Given the description of an element on the screen output the (x, y) to click on. 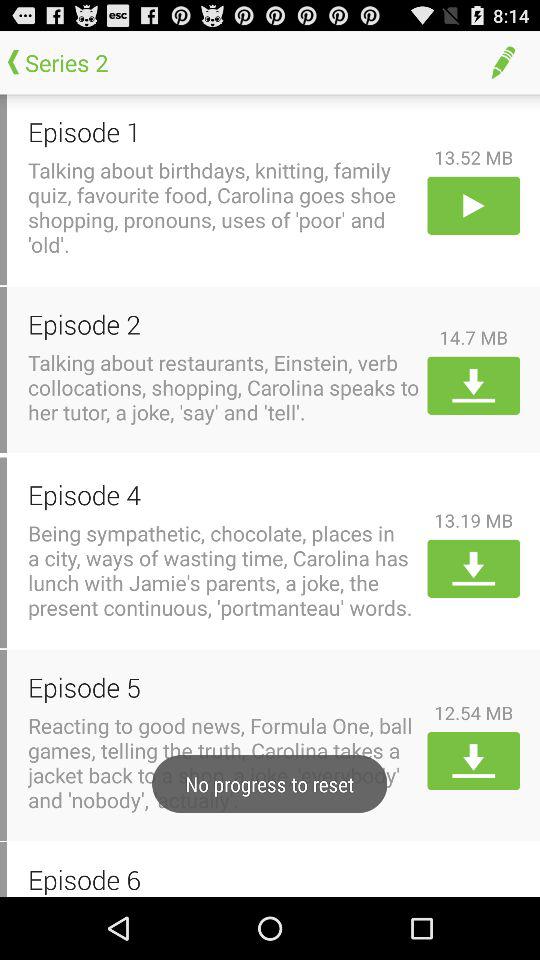
launch the icon below the episode 4 app (224, 569)
